Given the description of an element on the screen output the (x, y) to click on. 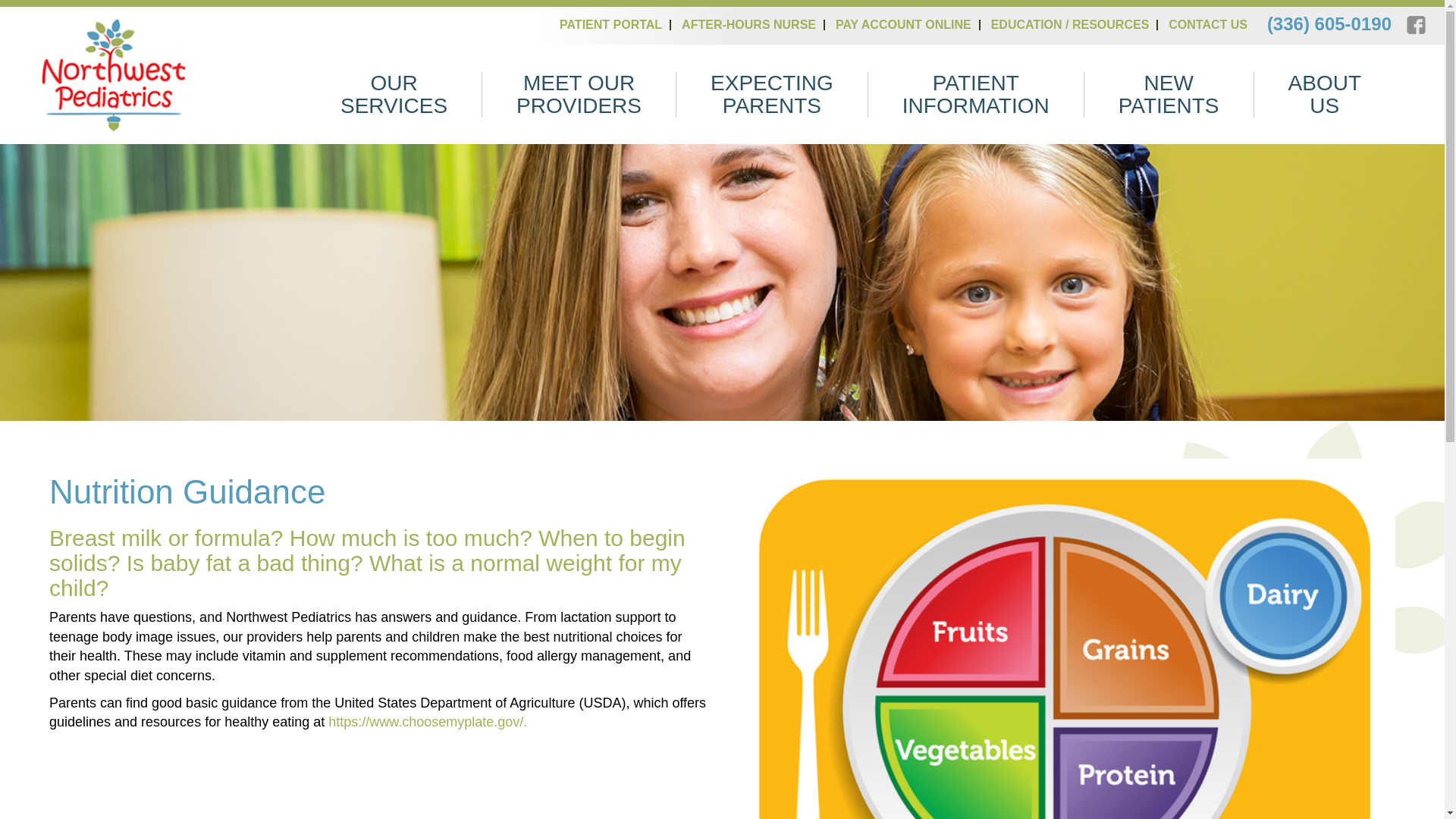
AFTER-HOURS NURSE (753, 24)
CONTACT US (1212, 24)
PAY ACCOUNT ONLINE (907, 24)
PATIENT PORTAL (615, 24)
